Given the description of an element on the screen output the (x, y) to click on. 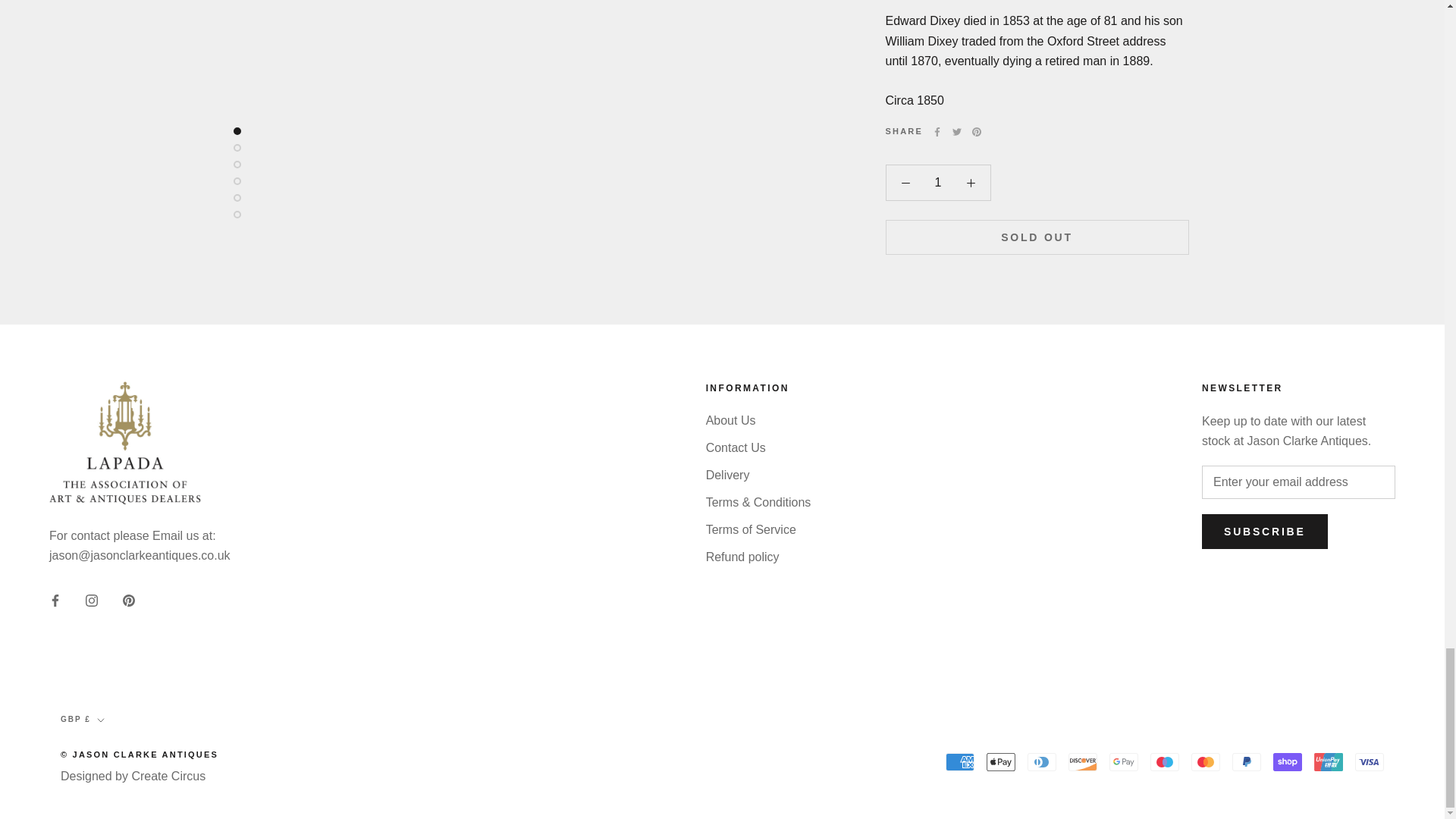
PayPal (1245, 761)
Diners Club (1042, 761)
Mastercard (1205, 761)
Apple Pay (1000, 761)
Google Pay (1123, 761)
Shop Pay (1286, 761)
Union Pay (1328, 761)
Discover (1082, 761)
American Express (959, 761)
Maestro (1164, 761)
